Given the description of an element on the screen output the (x, y) to click on. 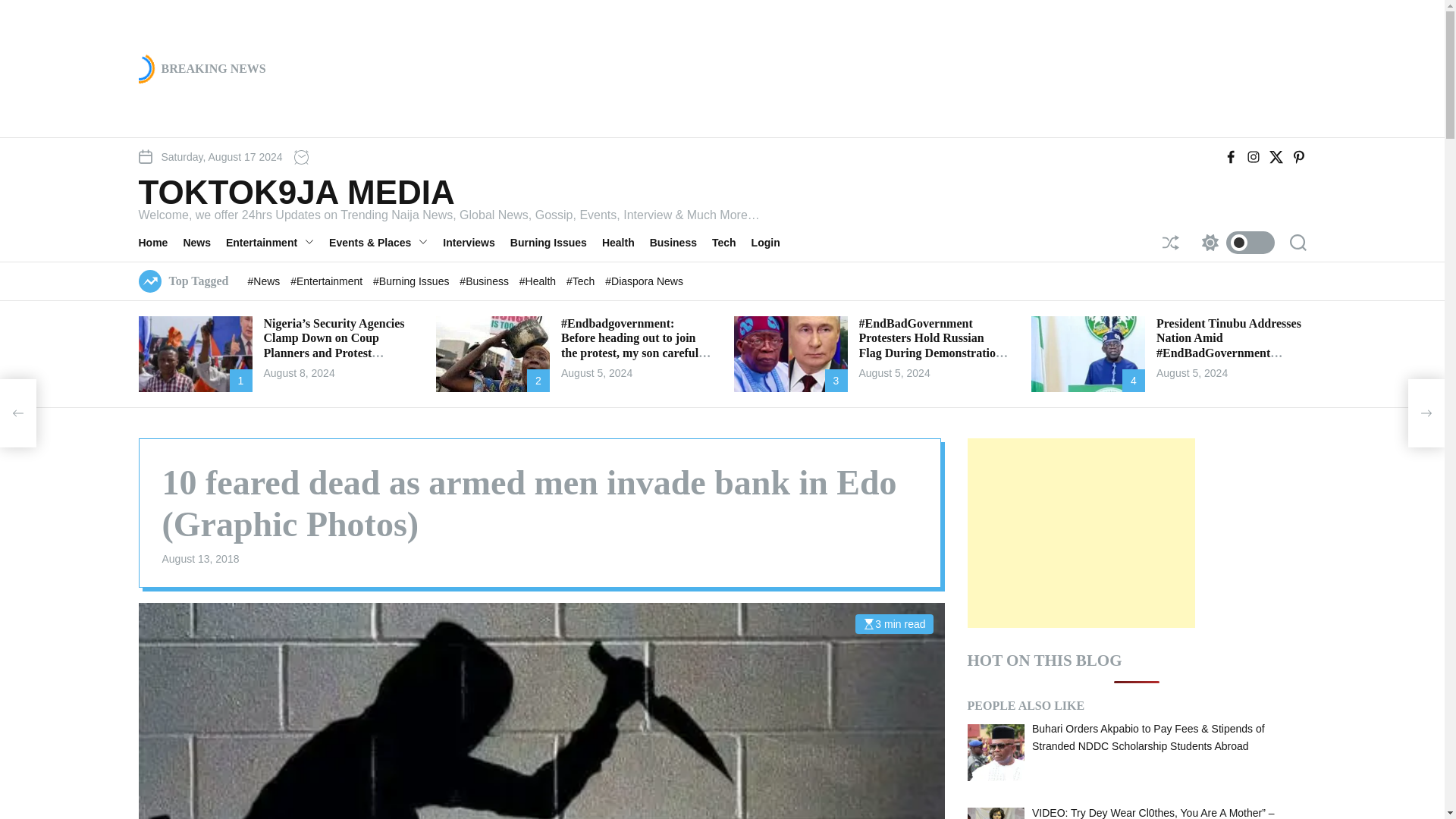
Login (772, 242)
Entertainment (277, 242)
Interviews (475, 242)
News (204, 242)
Facebook (1230, 156)
Twitter (1275, 156)
Pinterest (1298, 156)
Home (160, 242)
Instagram (1252, 156)
Business (680, 242)
